Given the description of an element on the screen output the (x, y) to click on. 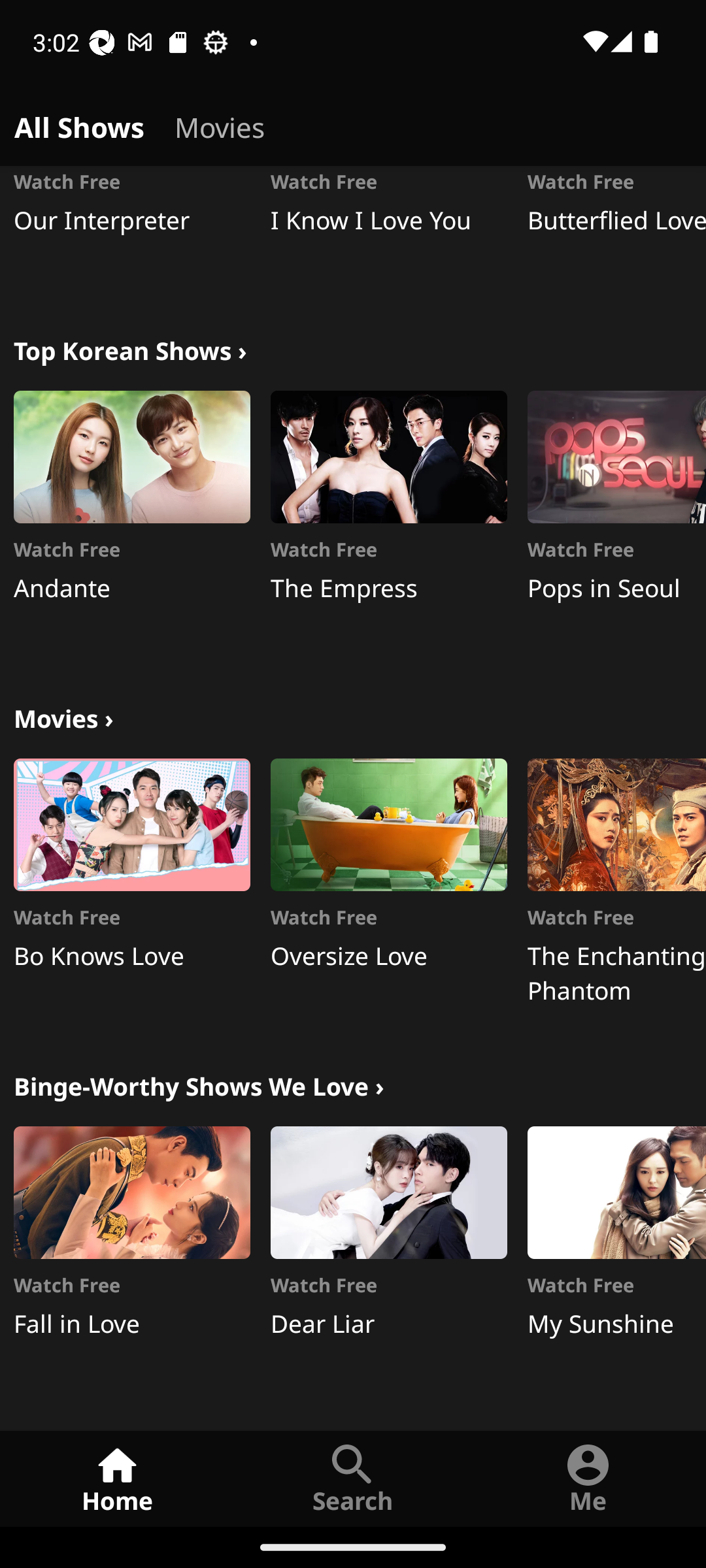
home_tab_movies Movies (219, 124)
resource_cell Watch Free Our Interpreter (131, 232)
resource_cell Watch Free I Know I Love You (388, 232)
resource_cell Watch Free Butterflied Lover (616, 232)
Top Korean Shows › korean_trending (130, 348)
Movies › movies_new (63, 715)
Binge-Worthy Shows We Love › 2652995l_collection (198, 1084)
Search (352, 1478)
Me (588, 1478)
